Given the description of an element on the screen output the (x, y) to click on. 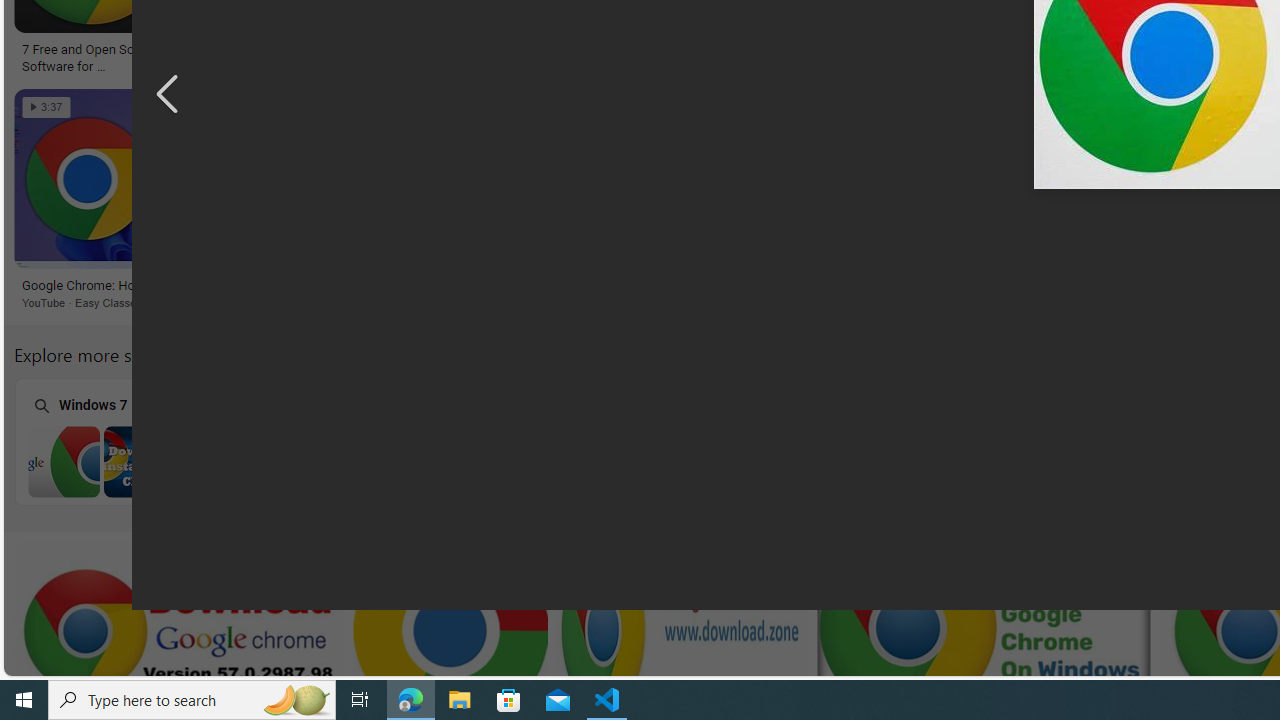
Download Chrome Browser in Internet Explorer (396, 461)
Chrome Browser Download Windows 10 (908, 461)
Chrome Browser Download Windows 10 Windows 10 (907, 441)
All Categories - humanrewa (1024, 50)
Image result for Google Chrome Internet Browser Download (817, 179)
Windows 10 64-Bit (651, 440)
Download Google Chrome As My Web BrowserSave (498, 202)
